Given the description of an element on the screen output the (x, y) to click on. 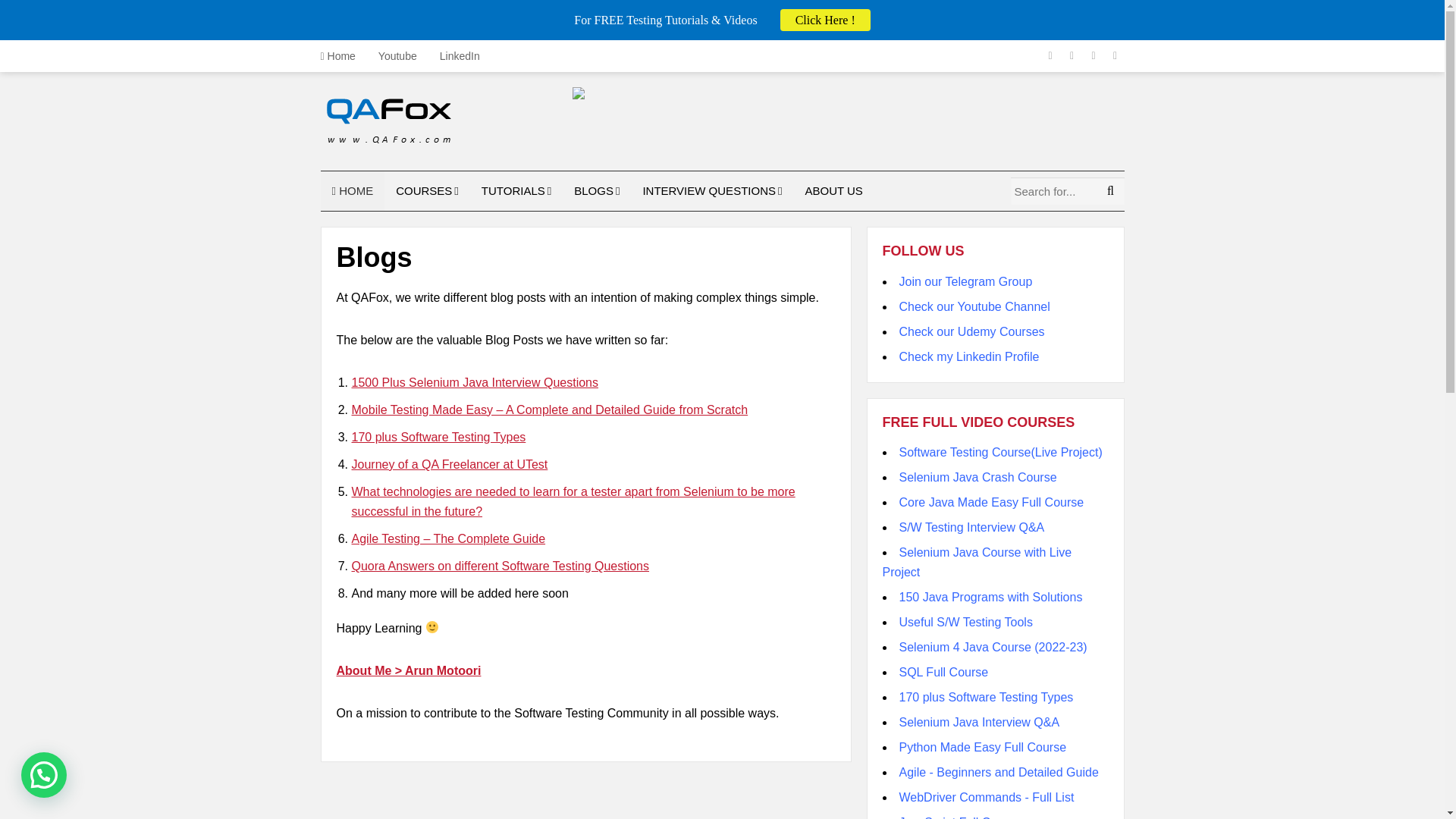
Home (343, 56)
Youtube (397, 56)
LinkedIn (460, 56)
